Given the description of an element on the screen output the (x, y) to click on. 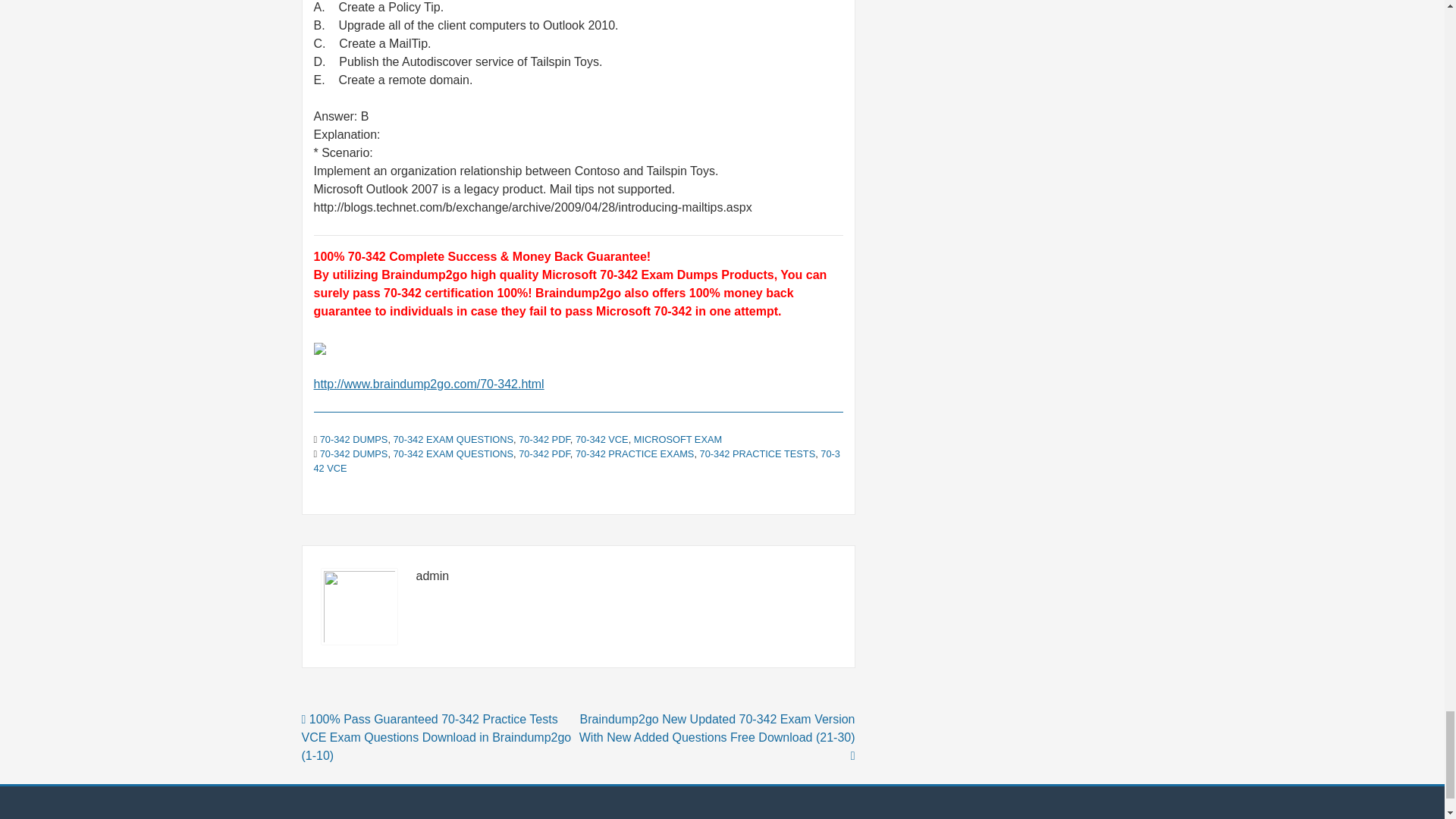
70-342 PDF (544, 439)
70-342 EXAM QUESTIONS (453, 439)
70-342 DUMPS (354, 439)
70-342 PRACTICE EXAMS (634, 453)
70-342 PDF (544, 453)
70-342 EXAM QUESTIONS (453, 453)
70-342 VCE (577, 460)
MICROSOFT EXAM (677, 439)
70-342 DUMPS (354, 453)
70-342 PRACTICE TESTS (757, 453)
70-342 VCE (601, 439)
